Given the description of an element on the screen output the (x, y) to click on. 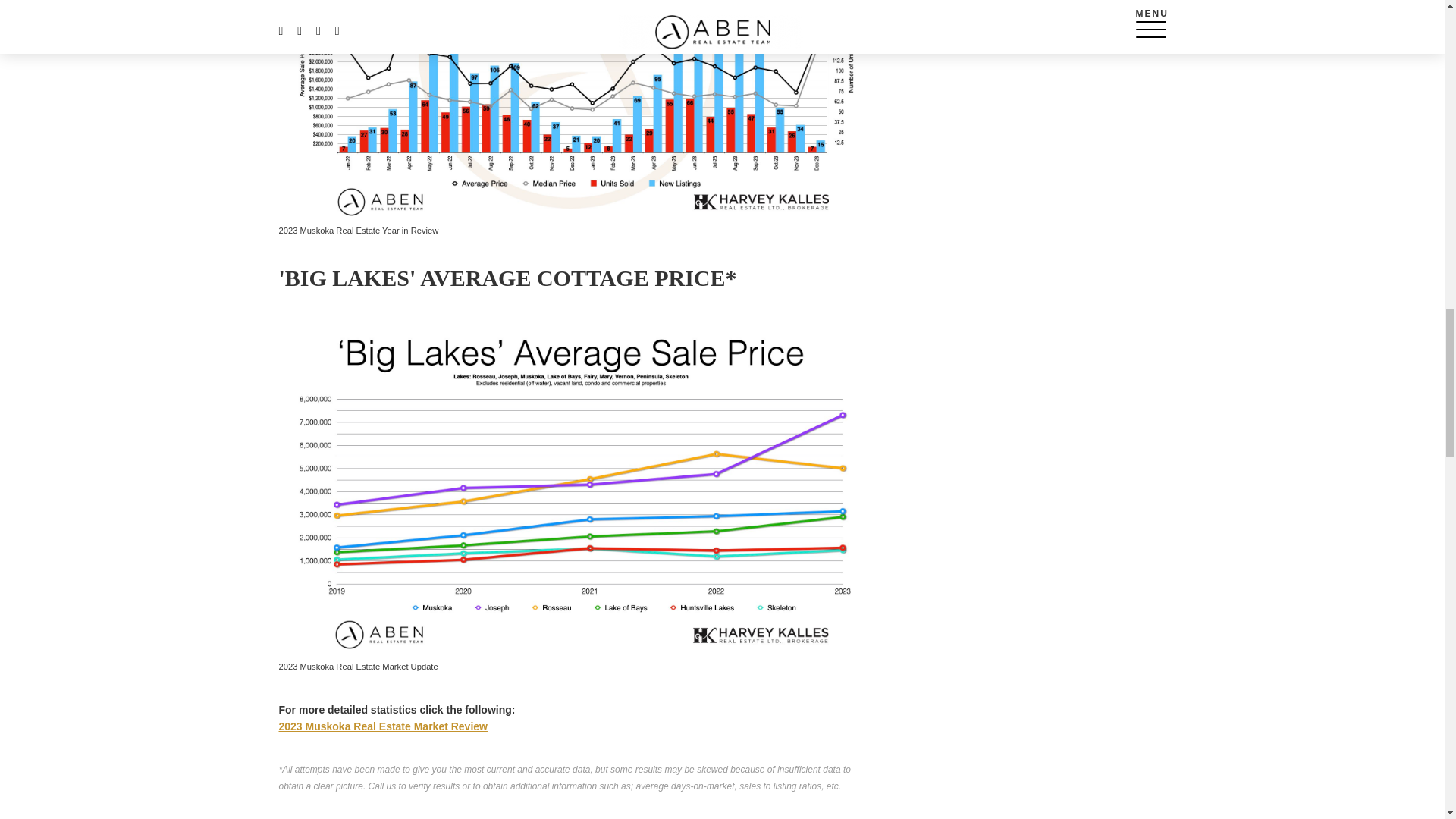
2023 Muskoka Real Estate Year in Review (571, 110)
